Given the description of an element on the screen output the (x, y) to click on. 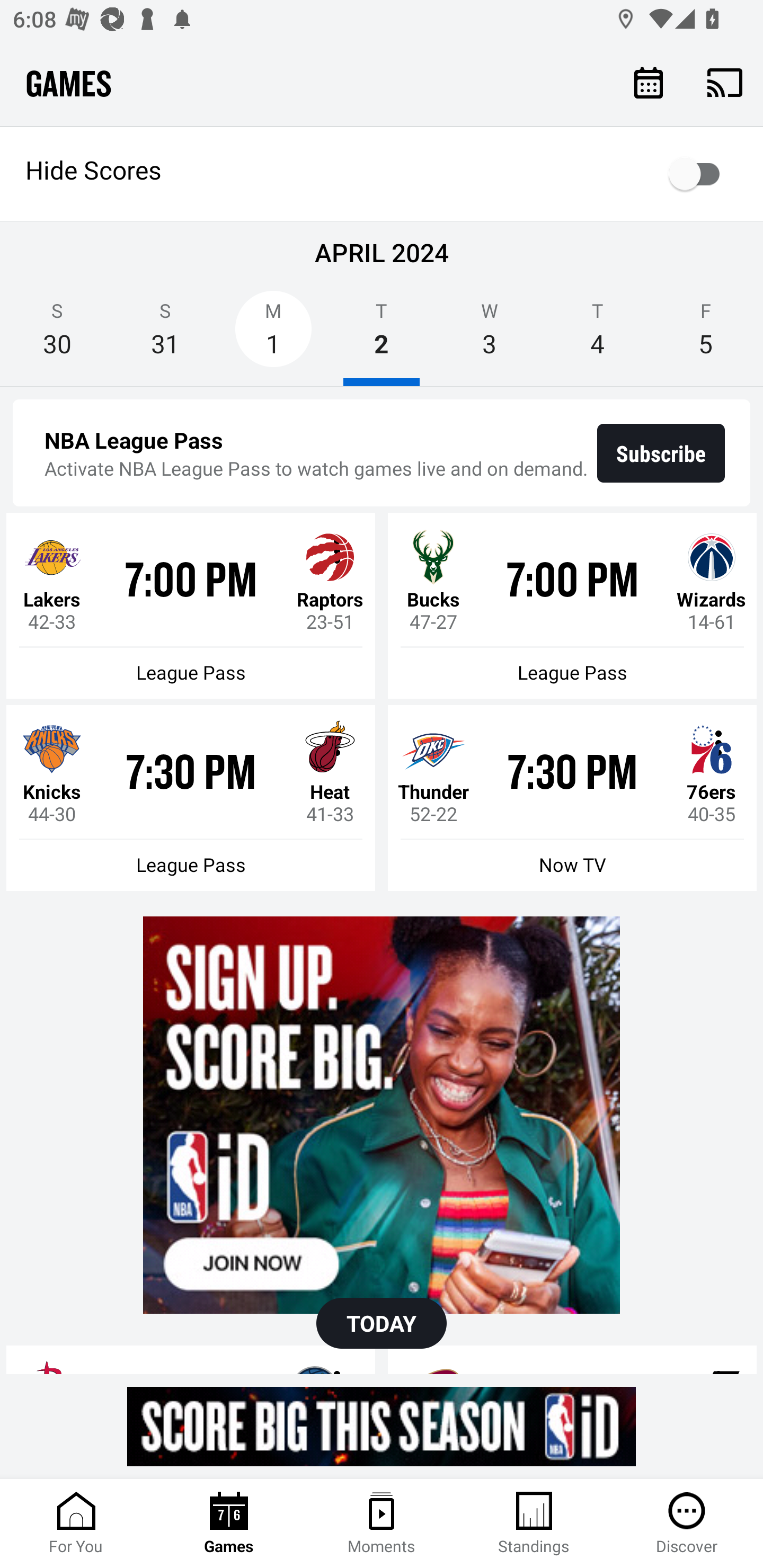
Cast. Disconnected (724, 82)
Calendar (648, 81)
Hide Scores (381, 174)
S 30 (57, 334)
S 31 (165, 334)
M 1 (273, 334)
T 2 (381, 334)
W 3 (489, 334)
T 4 (597, 334)
F 5 (705, 334)
Subscribe (660, 452)
Lakers 42-33 7:00 PM Raptors 23-51 League Pass (190, 605)
Bucks 47-27 7:00 PM Wizards 14-61 League Pass (571, 605)
Knicks 44-30 7:30 PM Heat 41-33 League Pass (190, 797)
Thunder 52-22 7:30 PM 76ers 40-35 Now TV (571, 797)
g5nqqygr7owph (381, 1114)
TODAY (381, 1323)
g5nqqygr7owph (381, 1426)
For You (76, 1523)
Moments (381, 1523)
Standings (533, 1523)
Discover (686, 1523)
